Given the description of an element on the screen output the (x, y) to click on. 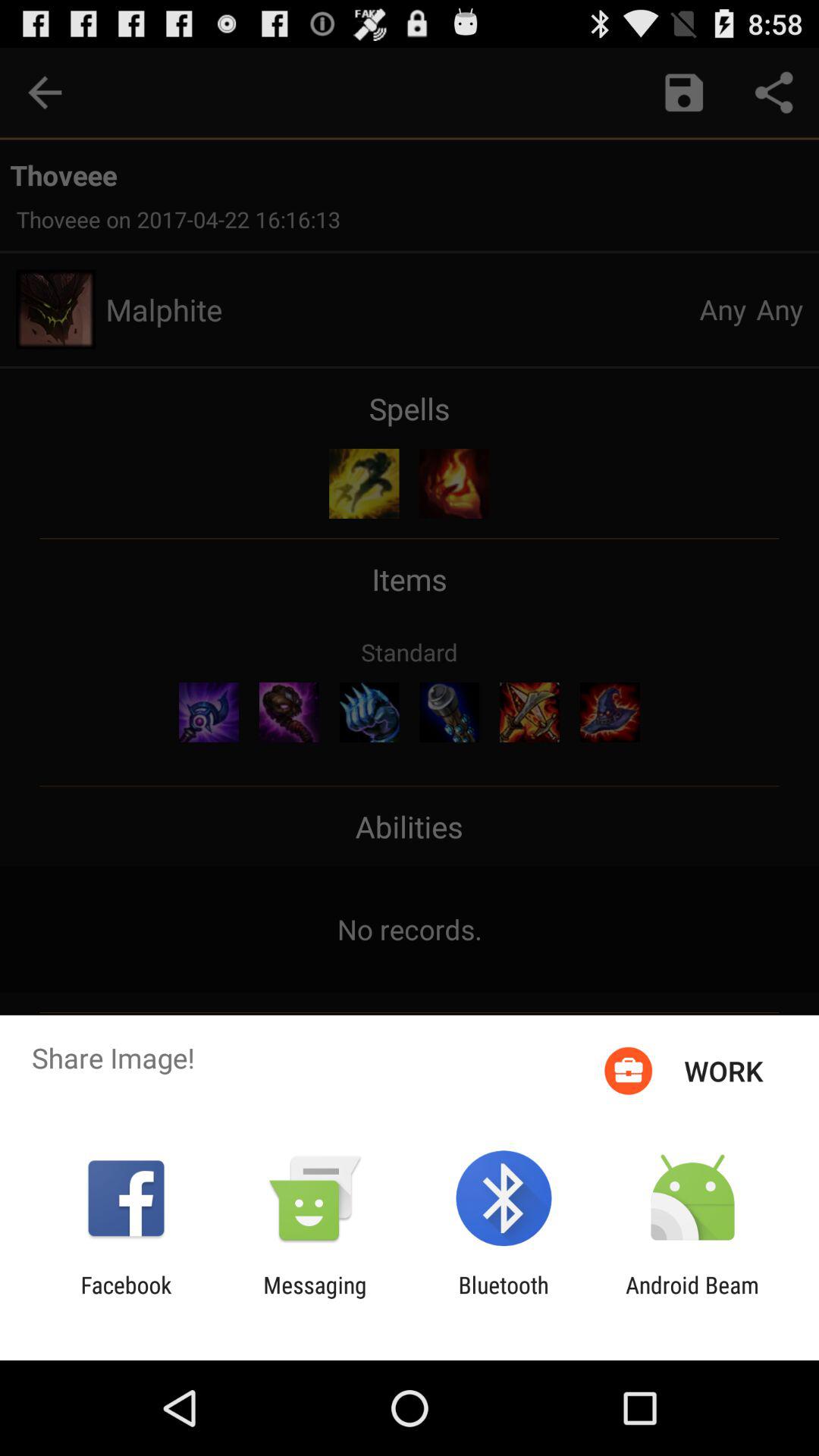
select icon next to android beam app (503, 1298)
